Given the description of an element on the screen output the (x, y) to click on. 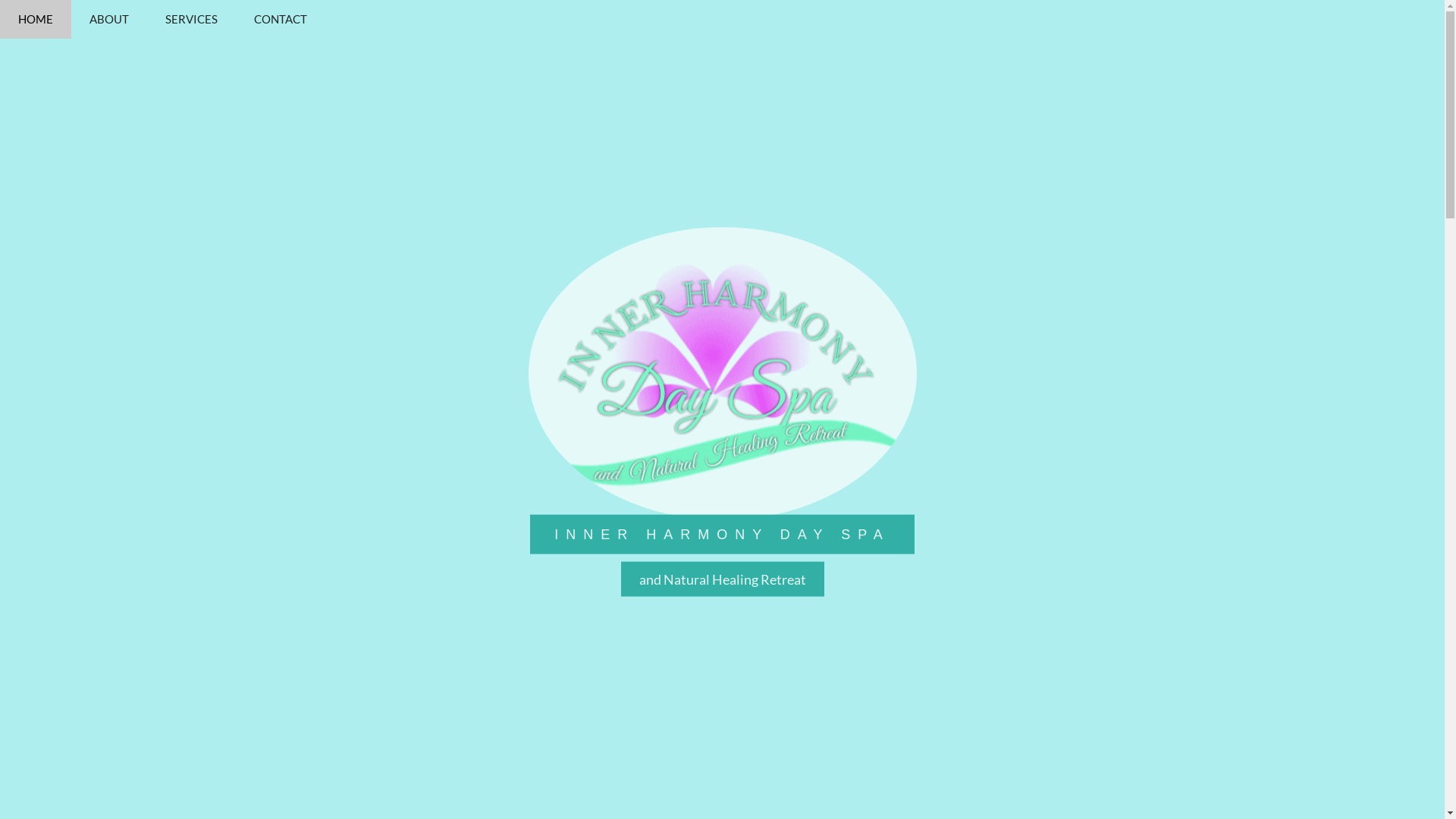
SERVICES Element type: text (191, 19)
ABOUT Element type: text (109, 19)
HOME Element type: text (35, 19)
CONTACT Element type: text (280, 19)
